Given the description of an element on the screen output the (x, y) to click on. 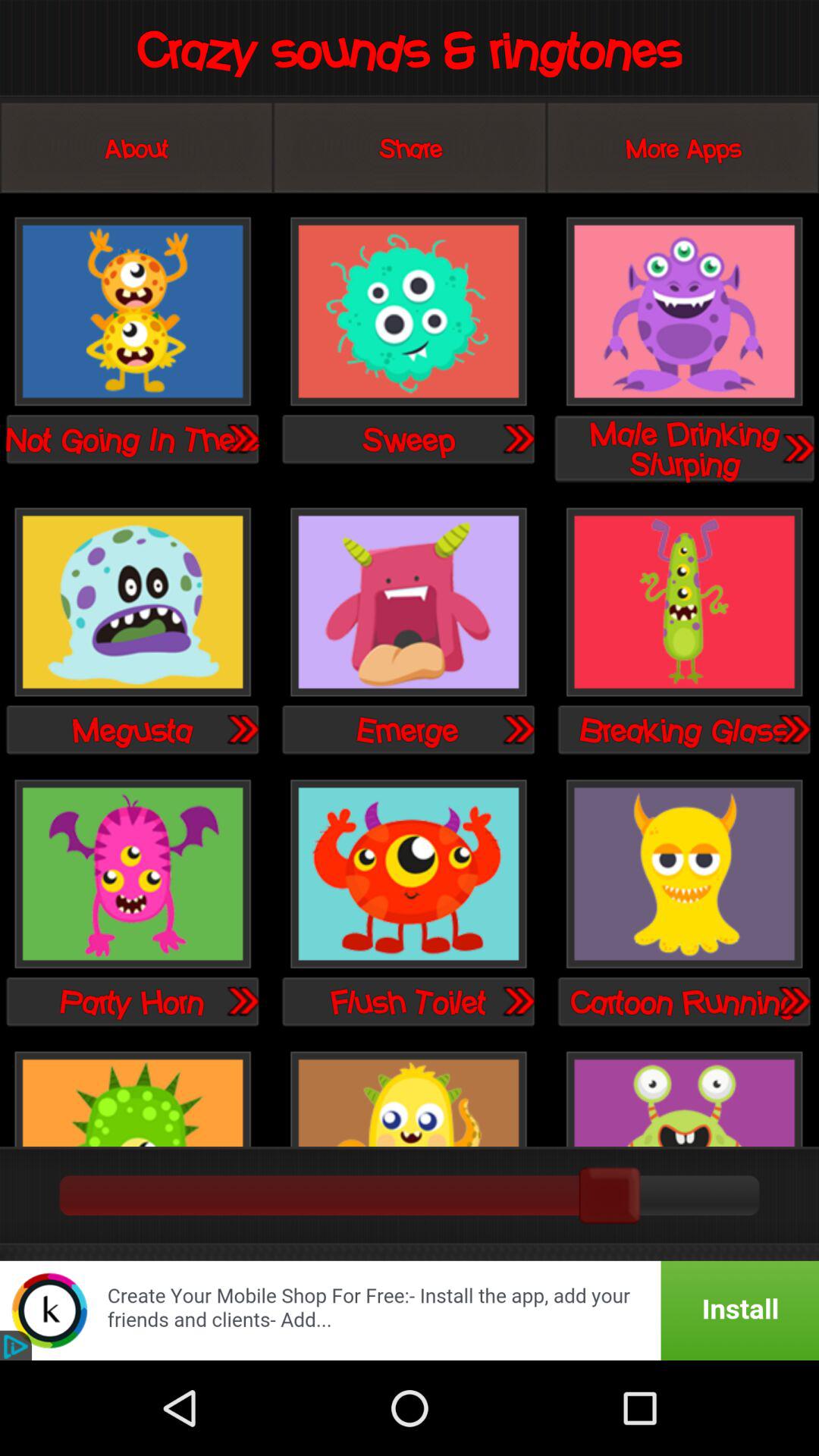
select the tone (408, 602)
